Given the description of an element on the screen output the (x, y) to click on. 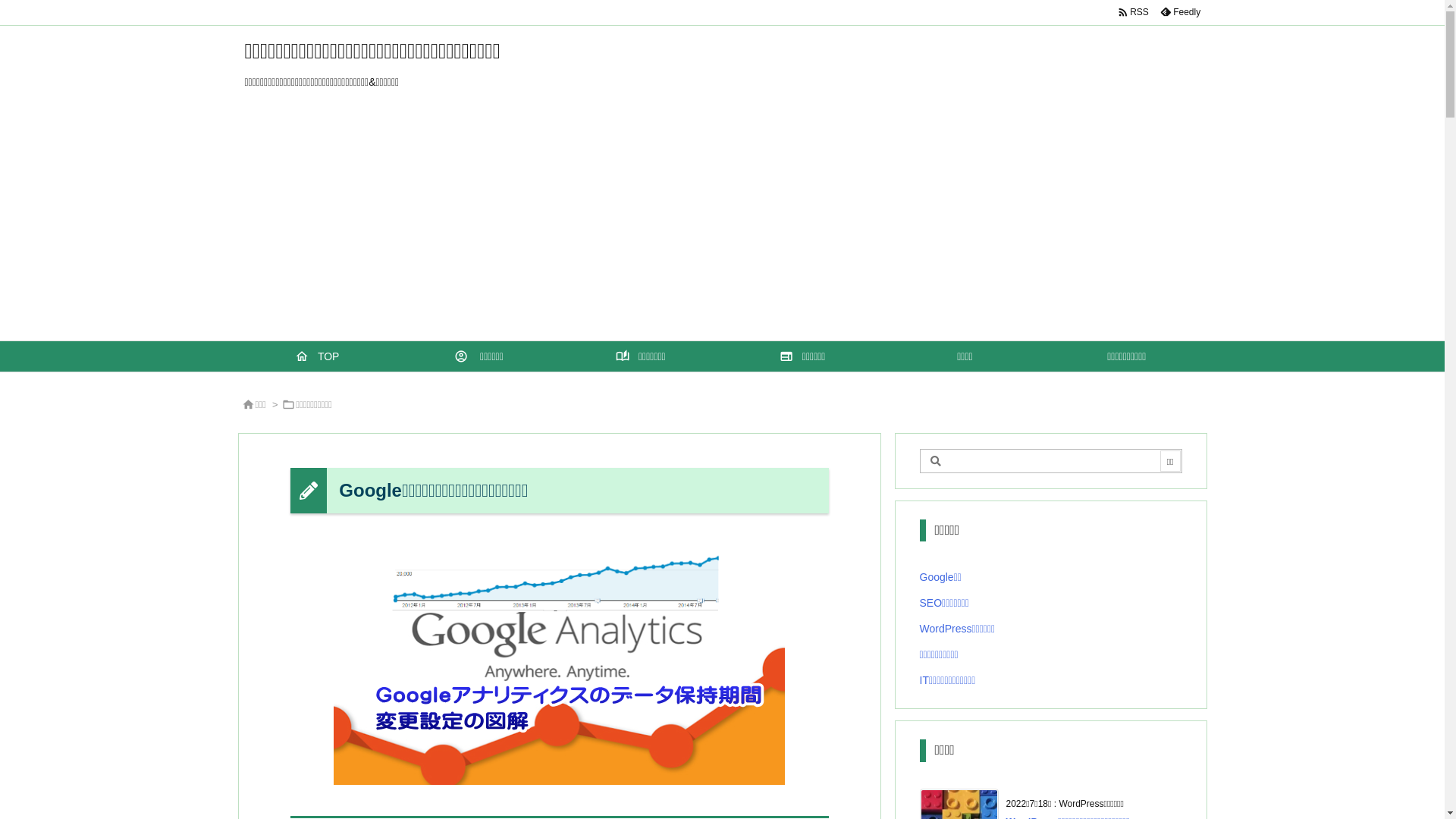
Advertisement Element type: hover (721, 226)
  Feedly  Element type: text (1179, 11)
